Given the description of an element on the screen output the (x, y) to click on. 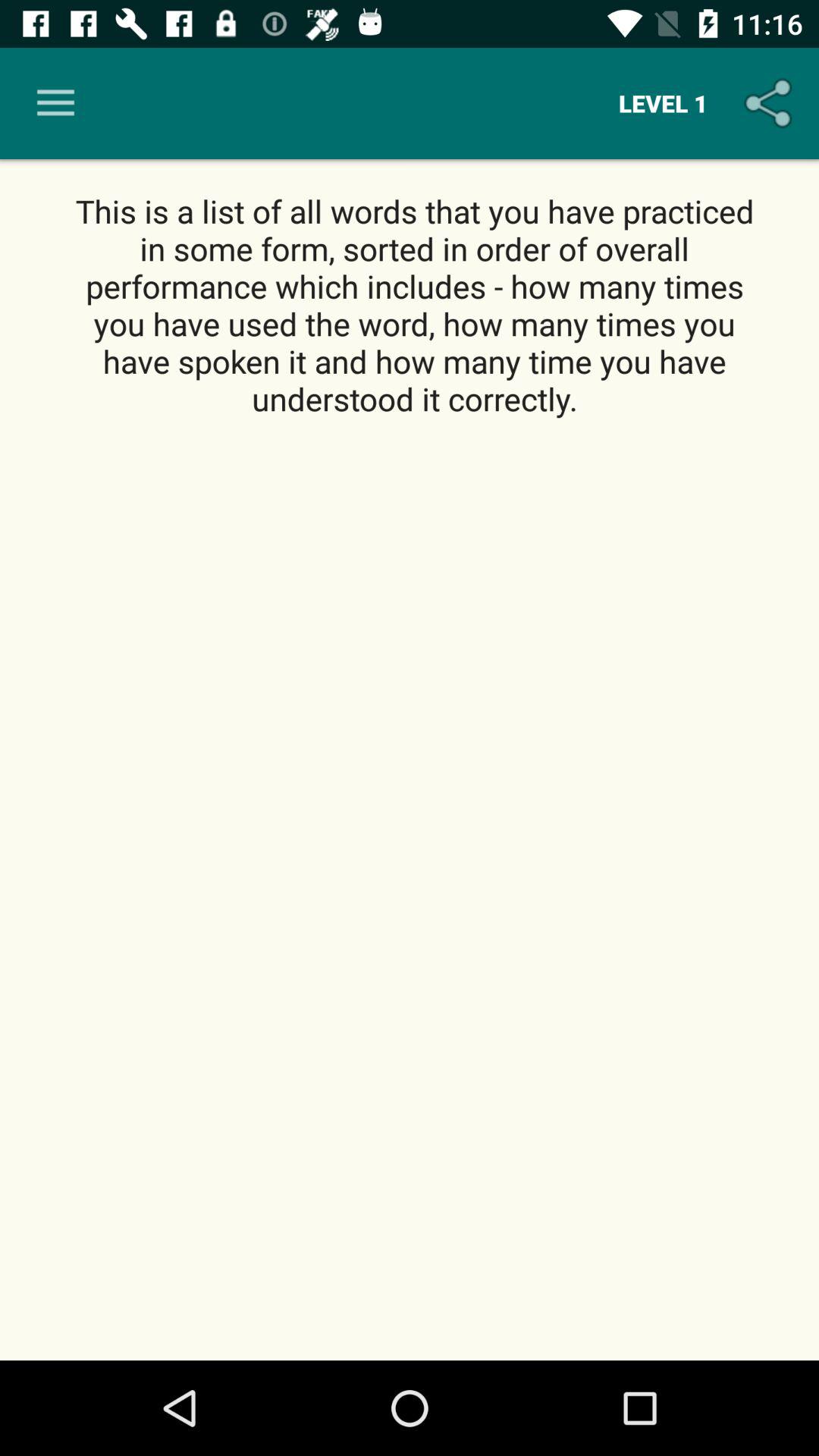
choose icon below the this is a icon (409, 889)
